Given the description of an element on the screen output the (x, y) to click on. 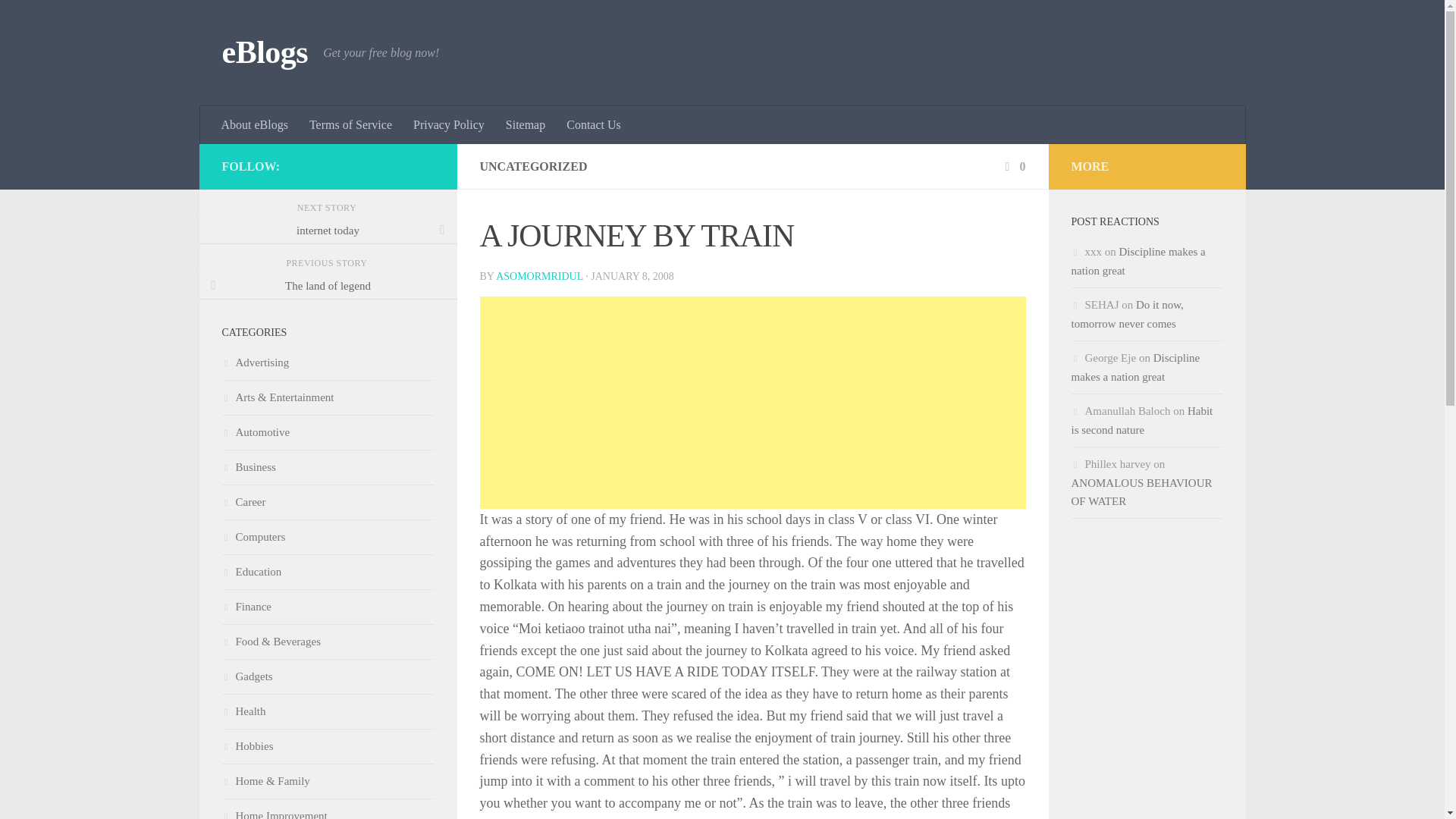
Finance (245, 606)
Advertisement (752, 402)
Contact Us (593, 125)
Automotive (255, 431)
eBlogs (264, 53)
Privacy Policy (449, 125)
About eBlogs (254, 125)
Career (242, 501)
Posts by asomormridul (539, 276)
Business (248, 467)
The land of legend (327, 285)
Education (251, 571)
ASOMORMRIDUL (539, 276)
Skip to content (59, 20)
Sitemap (525, 125)
